Given the description of an element on the screen output the (x, y) to click on. 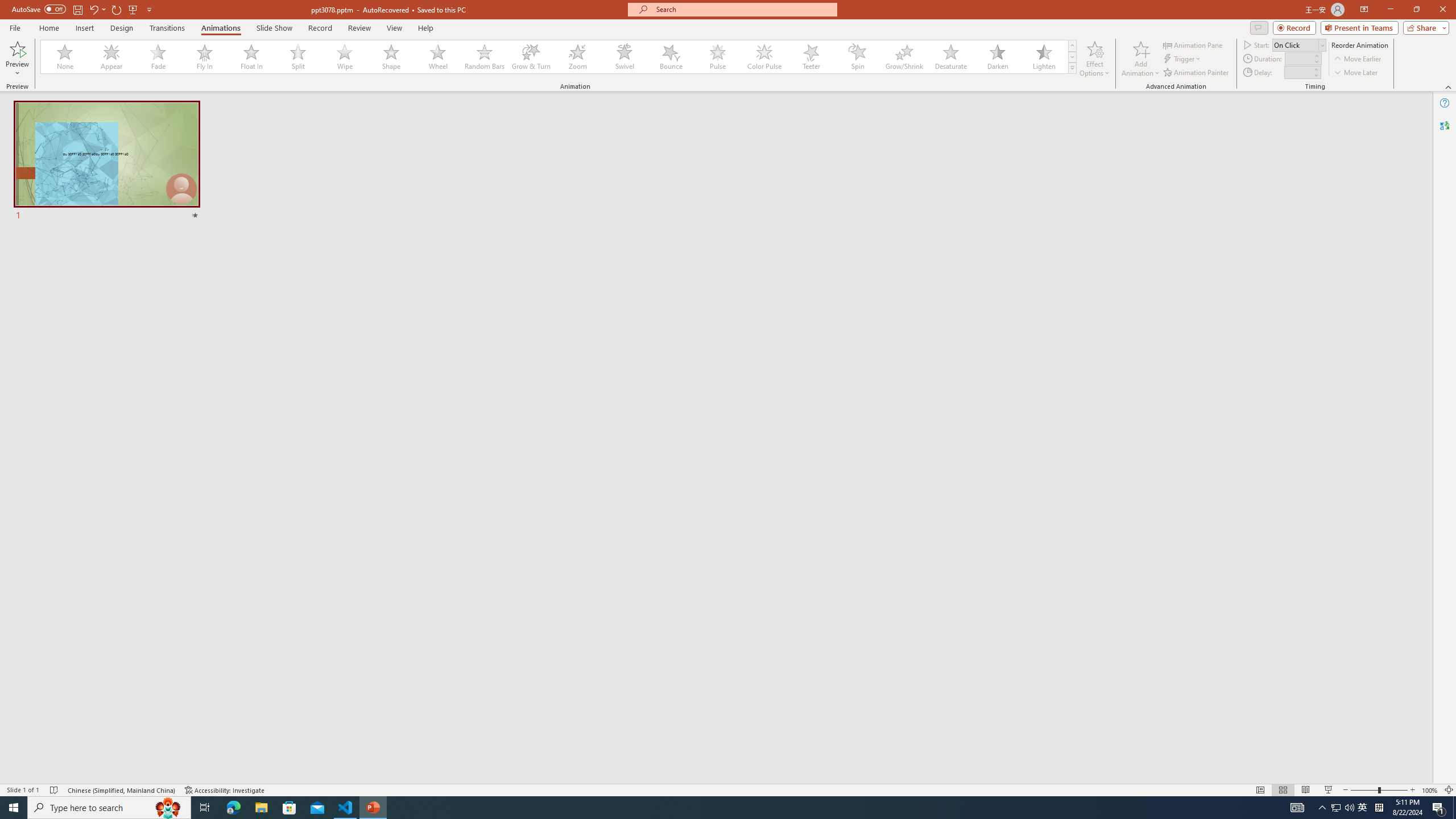
Spin (857, 56)
Wheel (437, 56)
Swivel (624, 56)
Animation Styles (1071, 67)
